Given the description of an element on the screen output the (x, y) to click on. 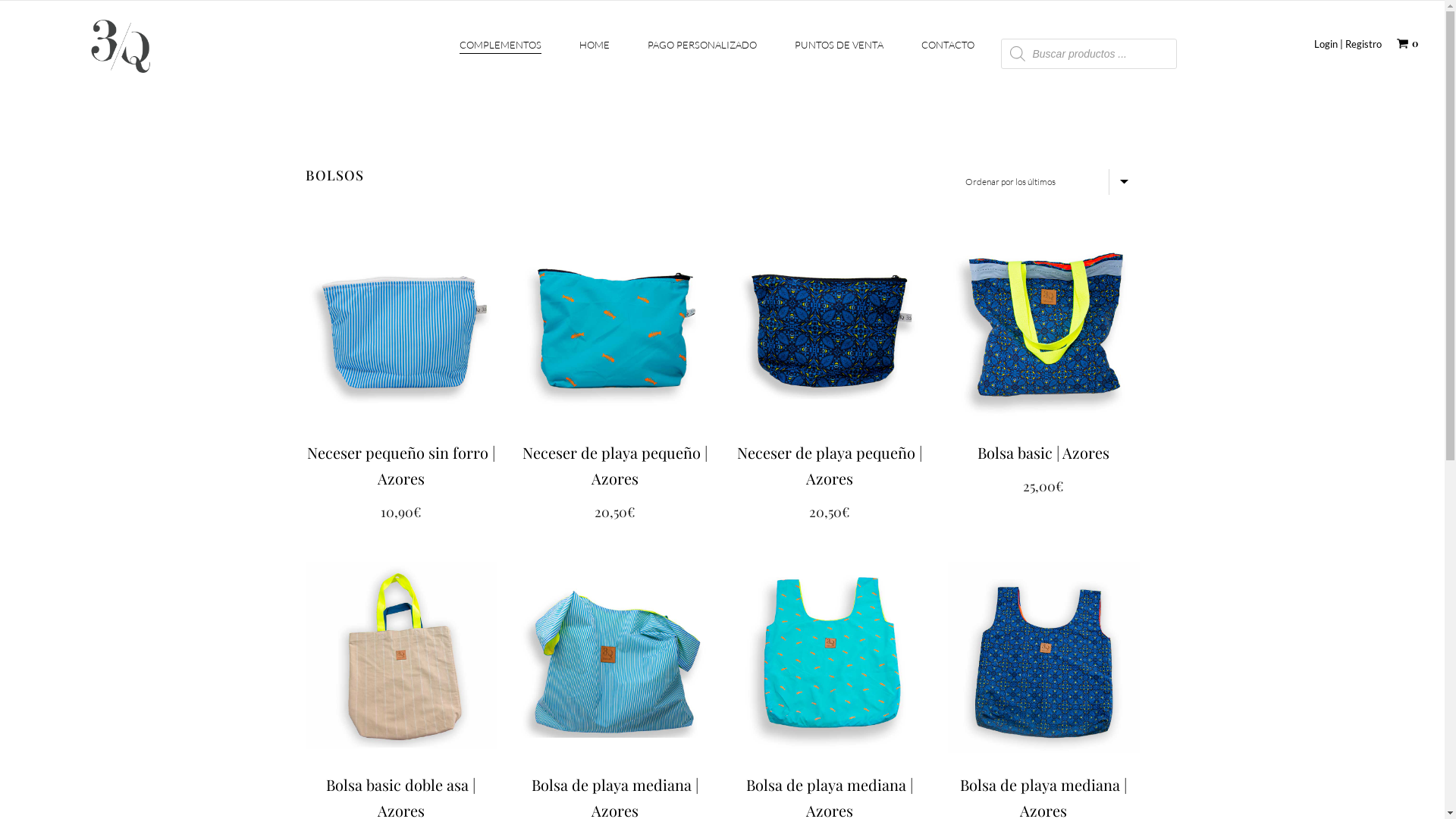
HOME Element type: text (594, 51)
CONTACTO Element type: text (947, 51)
Login | Registro Element type: text (1347, 43)
PUNTOS DE VENTA Element type: text (838, 51)
PAGO PERSONALIZADO Element type: text (702, 51)
0 Element type: text (1407, 42)
COMPLEMENTOS Element type: text (500, 51)
